Given the description of an element on the screen output the (x, y) to click on. 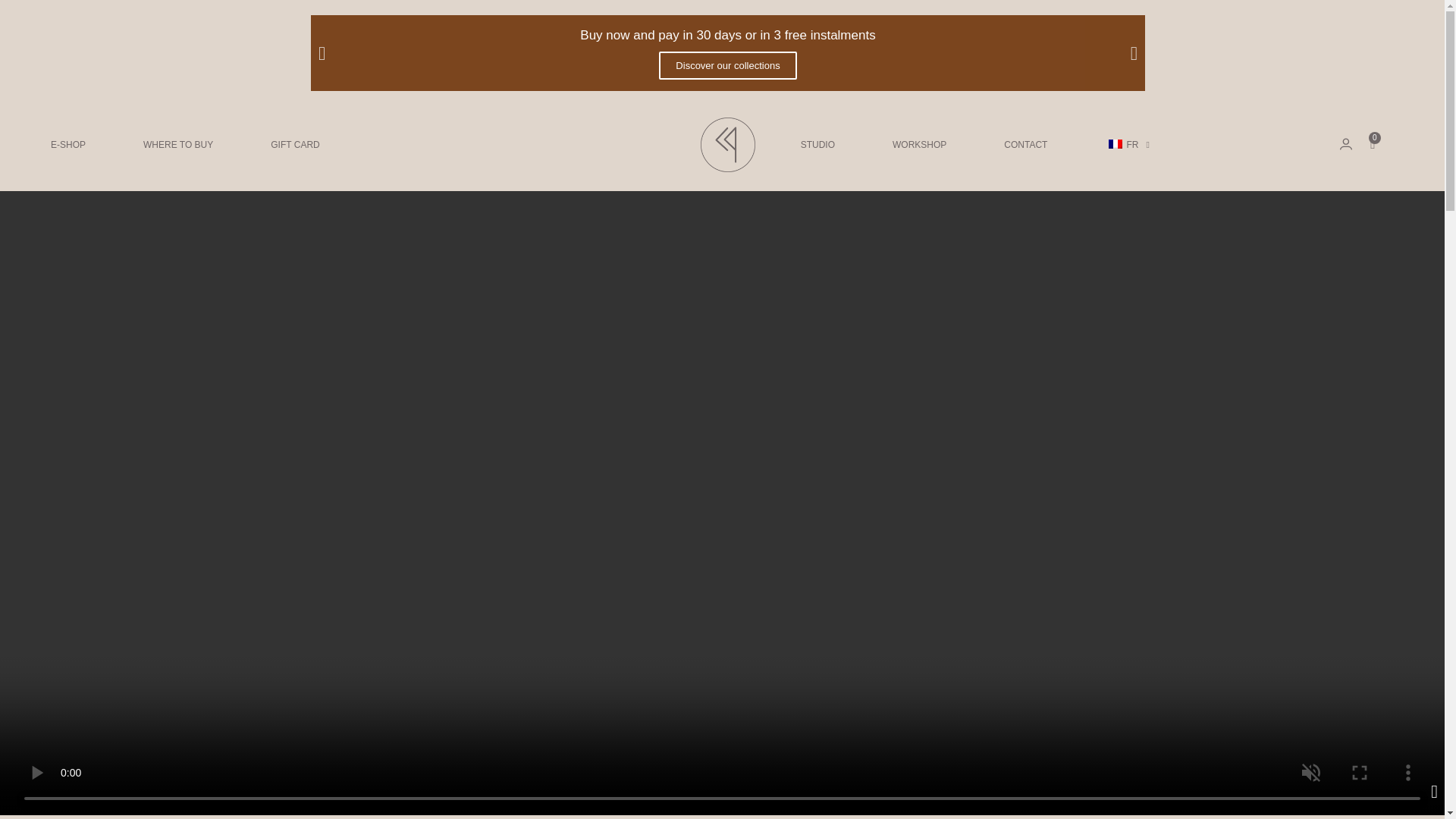
WORKSHOP (919, 144)
STUDIO (817, 144)
CONTACT (1025, 144)
GIFT CARD (294, 144)
WHERE TO BUY (178, 144)
French (1115, 143)
FR (1126, 144)
E-SHOP (67, 144)
